Given the description of an element on the screen output the (x, y) to click on. 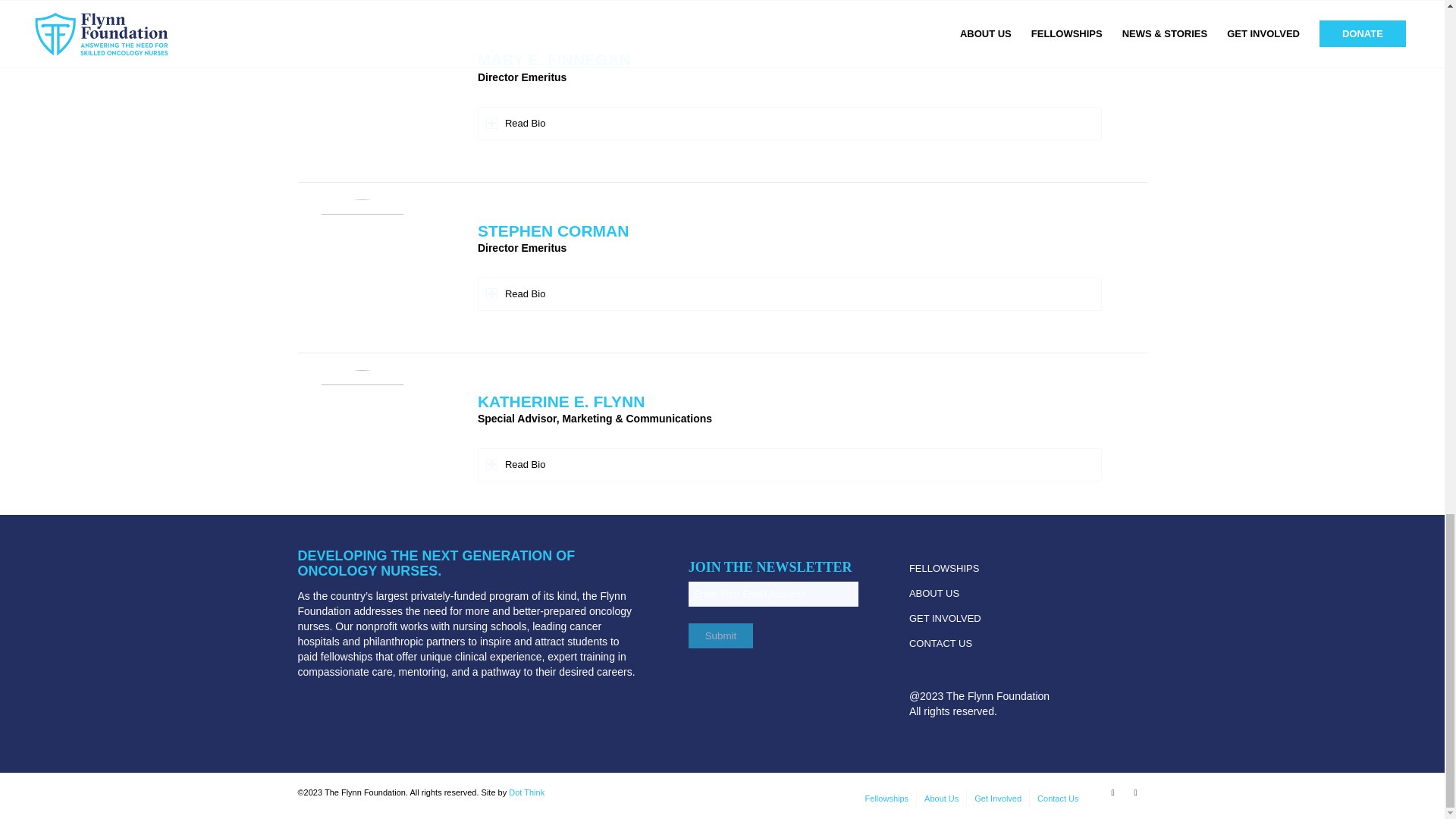
Stephen Corman (361, 263)
Dot Think (526, 791)
Mary Finnegan (361, 92)
Contact Us (1057, 798)
GET INVOLVED (993, 618)
Katie Flynn (361, 434)
Submit (720, 635)
Twitter (1112, 792)
Fellowships (886, 798)
ABOUT US (993, 593)
